Given the description of an element on the screen output the (x, y) to click on. 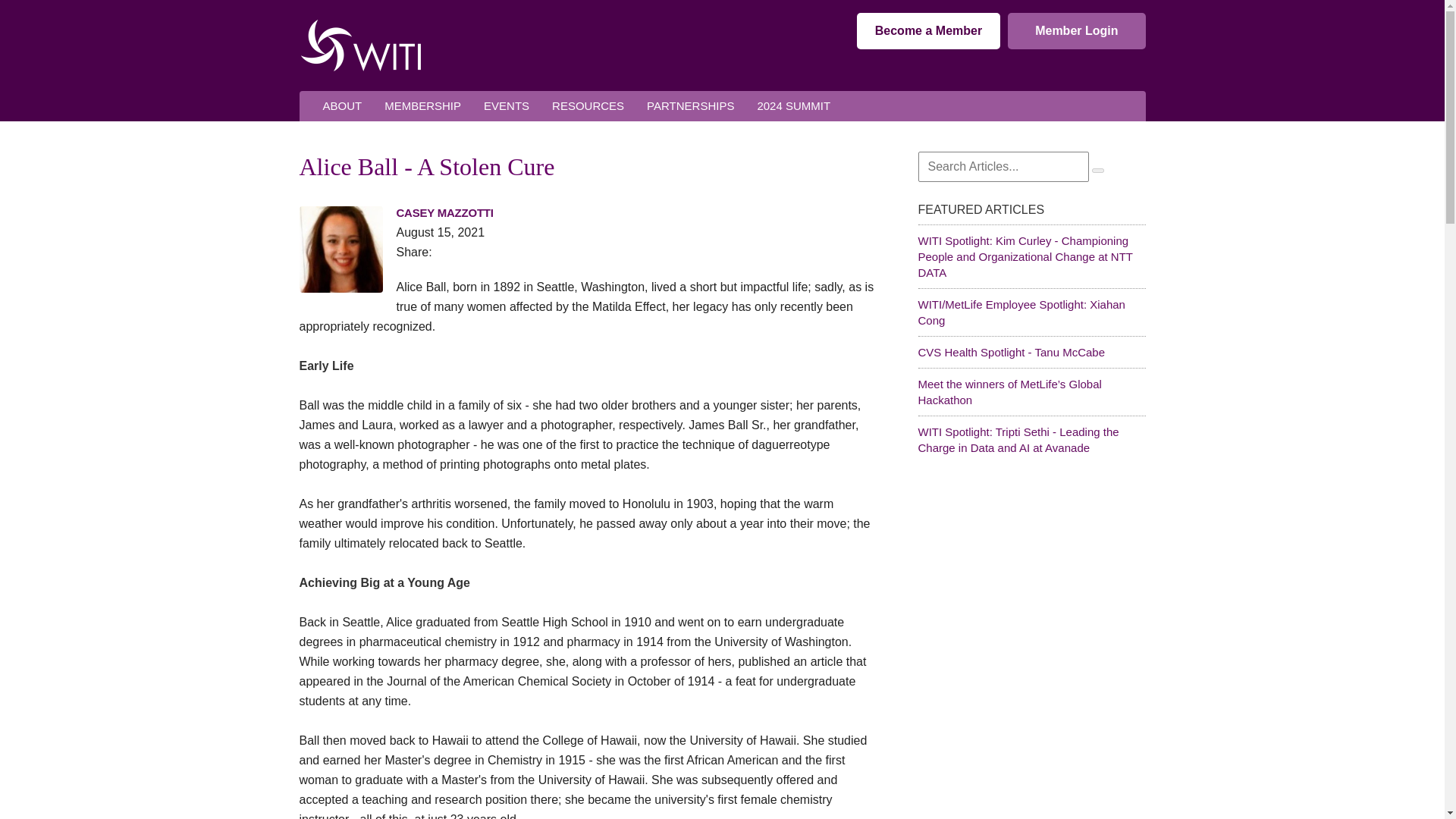
FEATURED ARTICLES (1030, 208)
Workforce Innovation, Trust, and Influence (359, 45)
RESOURCES (587, 106)
PARTNERSHIPS (689, 106)
2024 SUMMIT (793, 106)
CVS Health Spotlight - Tanu McCabe (1011, 352)
CASEY MAZZOTTI (444, 212)
Become a Member (928, 31)
MEMBERSHIP (421, 106)
ABOUT (341, 106)
